Given the description of an element on the screen output the (x, y) to click on. 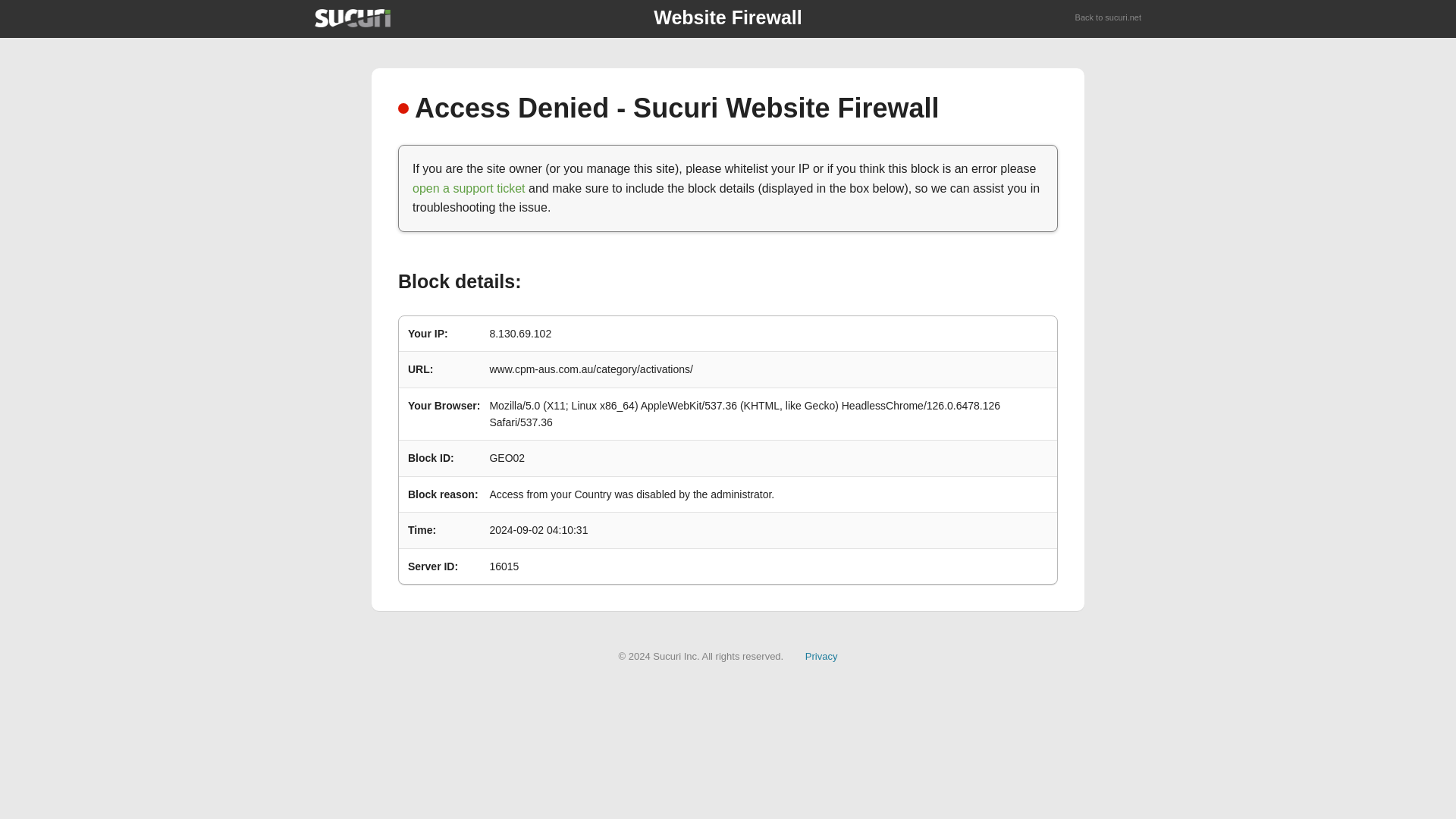
open a support ticket (468, 187)
Back to sucuri.net (1108, 18)
Privacy (821, 655)
